Given the description of an element on the screen output the (x, y) to click on. 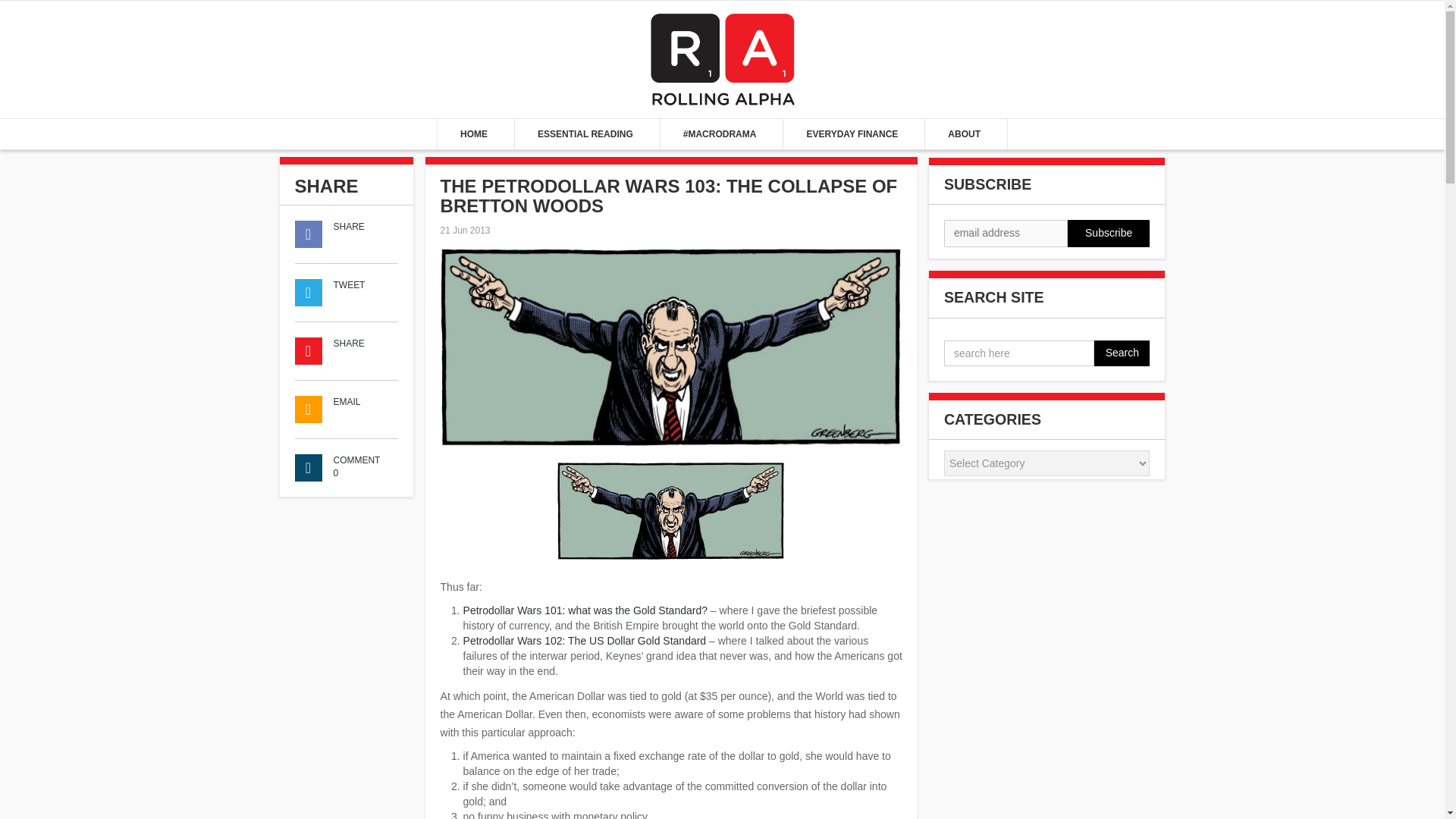
The Petrodollar Wars 102: The US Dollar Gold Standard (584, 640)
HOME (475, 133)
The Petrodollar Wars 101: what was the Gold Standard? (585, 610)
Subscribe (1108, 233)
nixon (670, 511)
ESSENTIAL READING (587, 133)
